Given the description of an element on the screen output the (x, y) to click on. 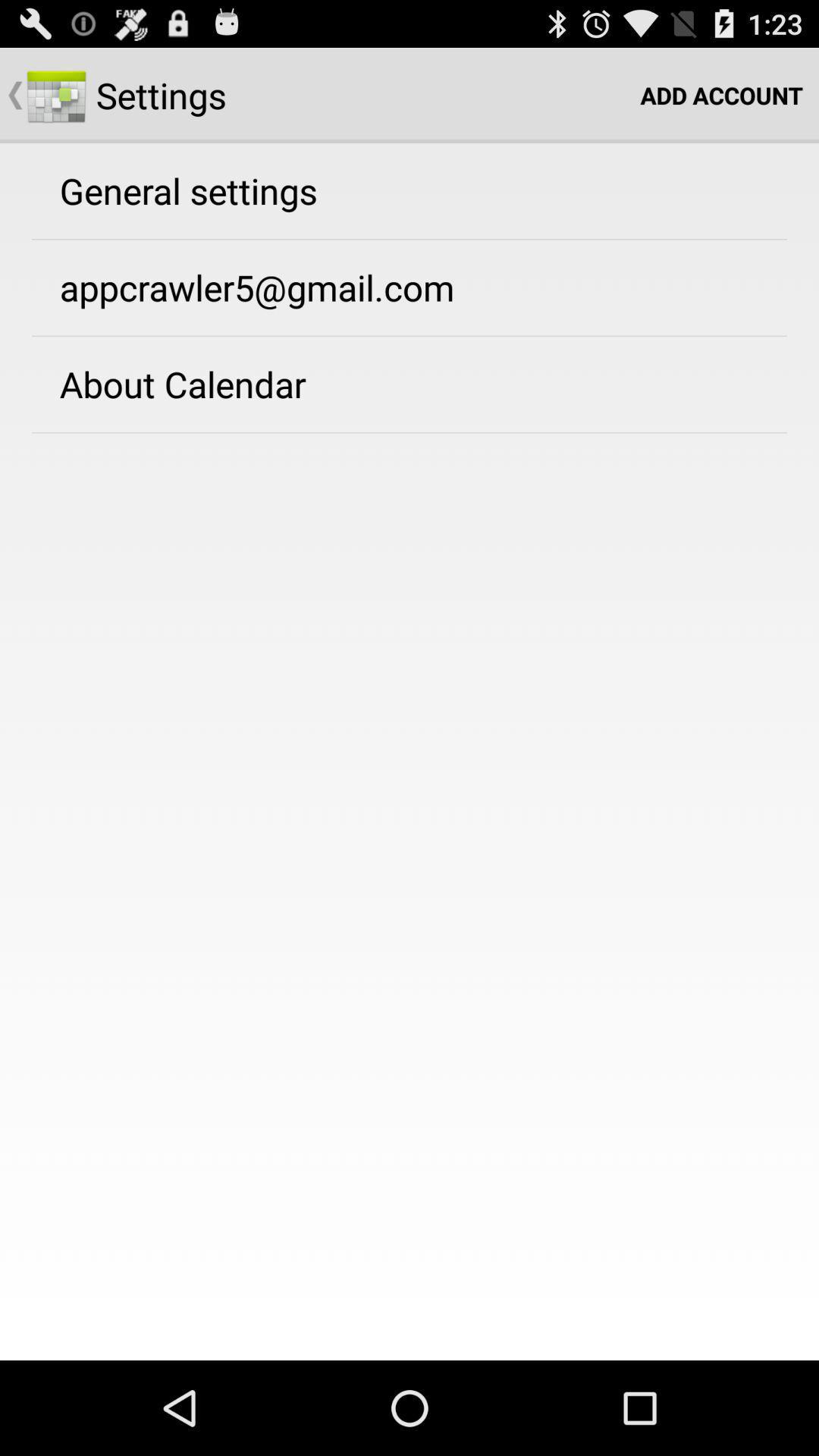
press appcrawler5@gmail.com item (256, 287)
